Given the description of an element on the screen output the (x, y) to click on. 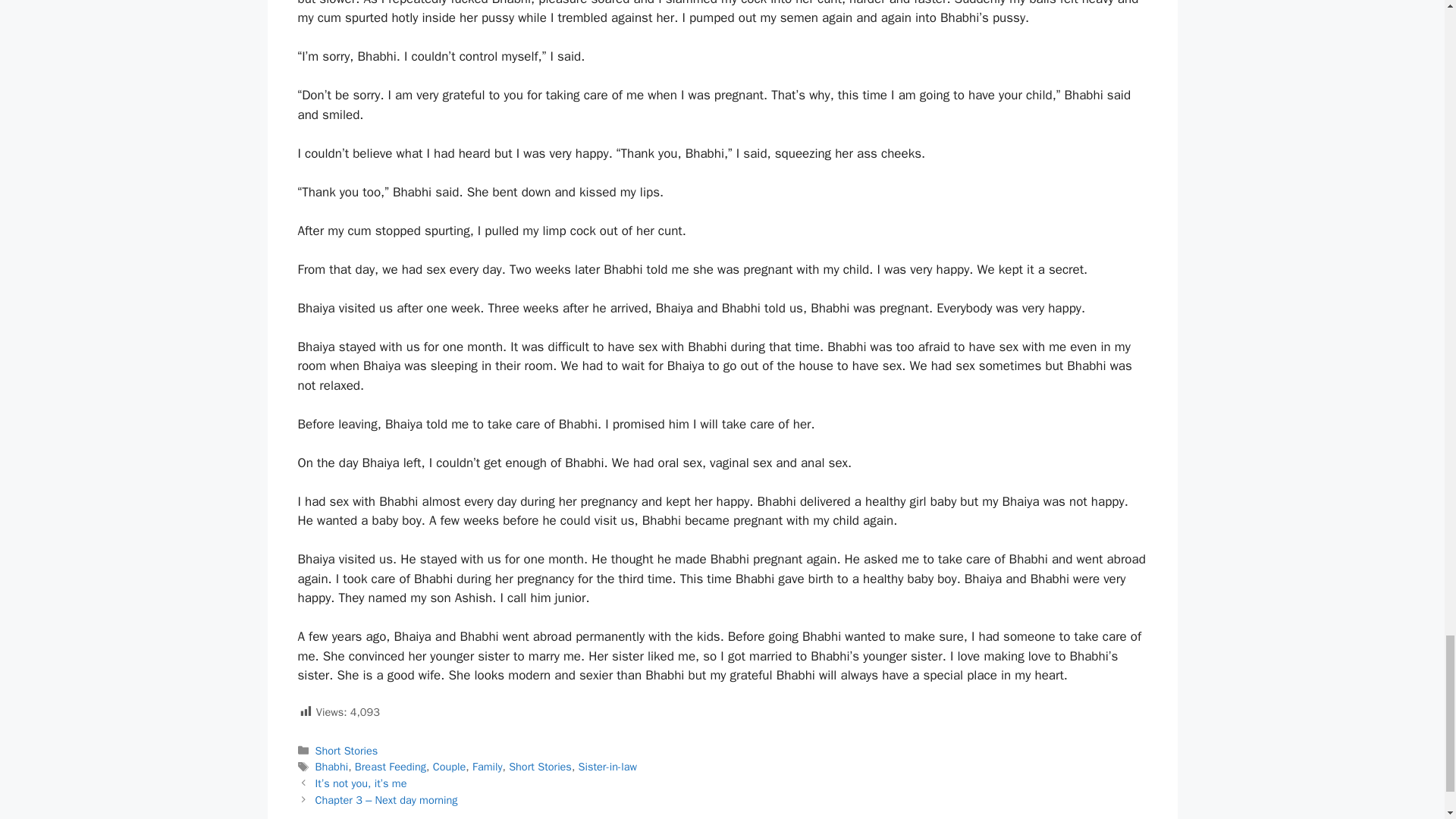
Breast Feeding (390, 766)
Short Stories (540, 766)
Couple (448, 766)
Next (386, 799)
Short Stories (346, 750)
Previous (361, 783)
Family (486, 766)
Sister-in-law (607, 766)
Bhabhi (332, 766)
